Given the description of an element on the screen output the (x, y) to click on. 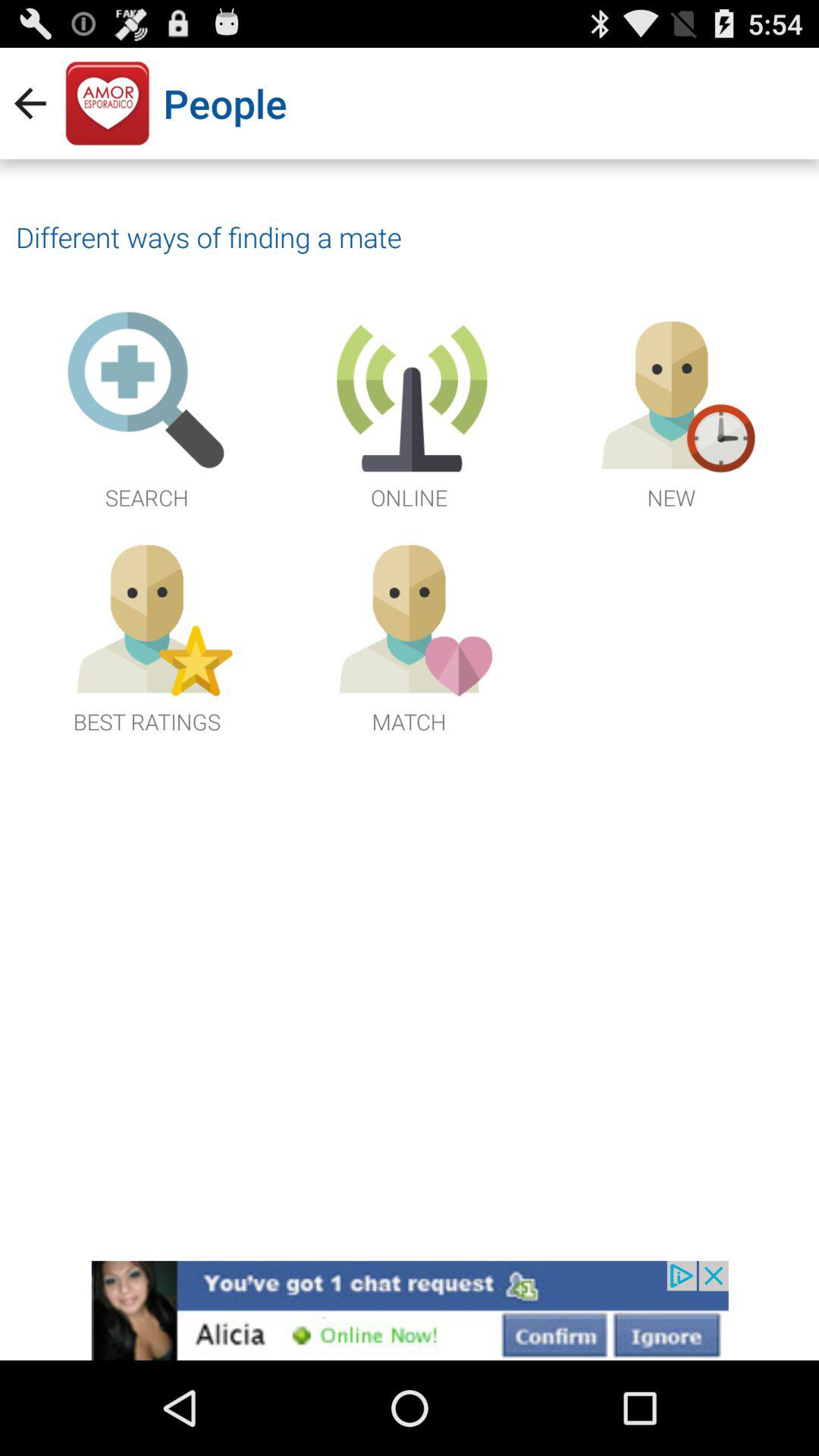
view best rated people (146, 634)
